Given the description of an element on the screen output the (x, y) to click on. 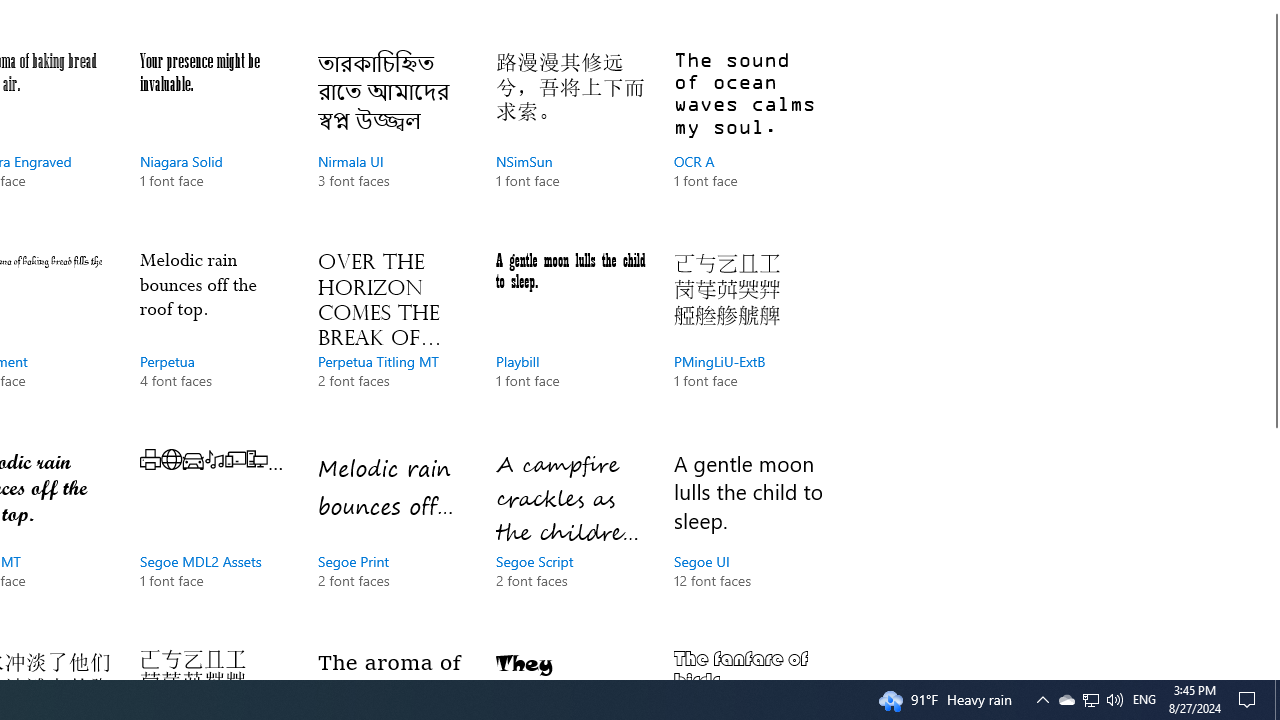
Perpetua Titling MT, 2 font faces (392, 339)
Segoe Print, 2 font faces (392, 539)
Perpetua, 4 font faces (214, 339)
Nirmala UI, 3 font faces (392, 139)
Niagara Solid, 1 font face (214, 139)
Playbill, 1 font face (570, 339)
Segoe UI, 12 font faces (748, 539)
Segoe MDL2 Assets, 1 font face (214, 539)
Snap ITC, 1 font face (570, 659)
